Given the description of an element on the screen output the (x, y) to click on. 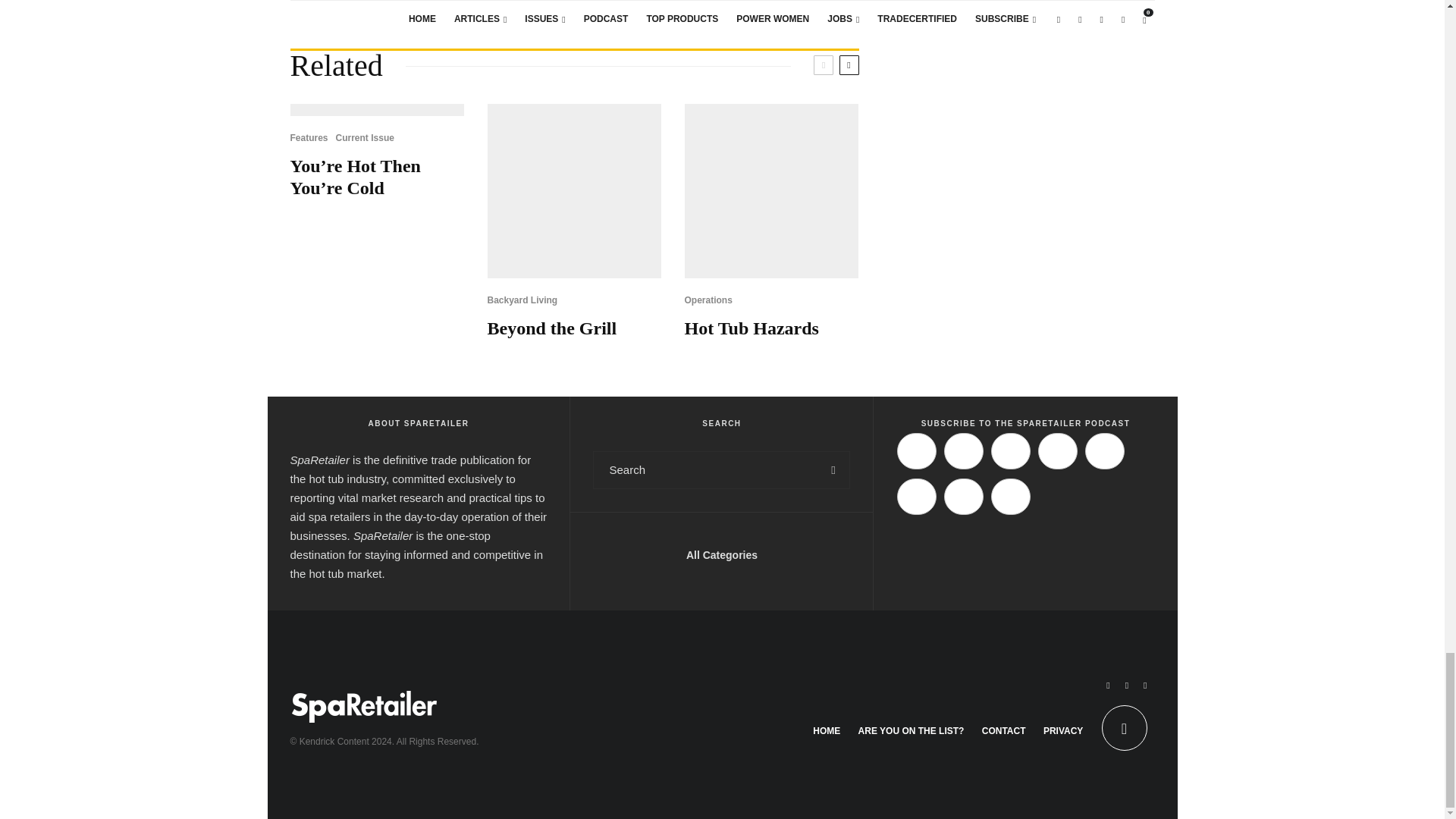
Subscribe by Email (916, 496)
Subscribe on Amazon Music (1010, 451)
More Subscribe Options (1010, 496)
Subscribe on Spotify (963, 451)
Subscribe on Apple Podcasts (916, 451)
Subscribe via RSS (963, 496)
Subscribe on Android (1057, 451)
Subscribe on Podchaser (1104, 451)
